Given the description of an element on the screen output the (x, y) to click on. 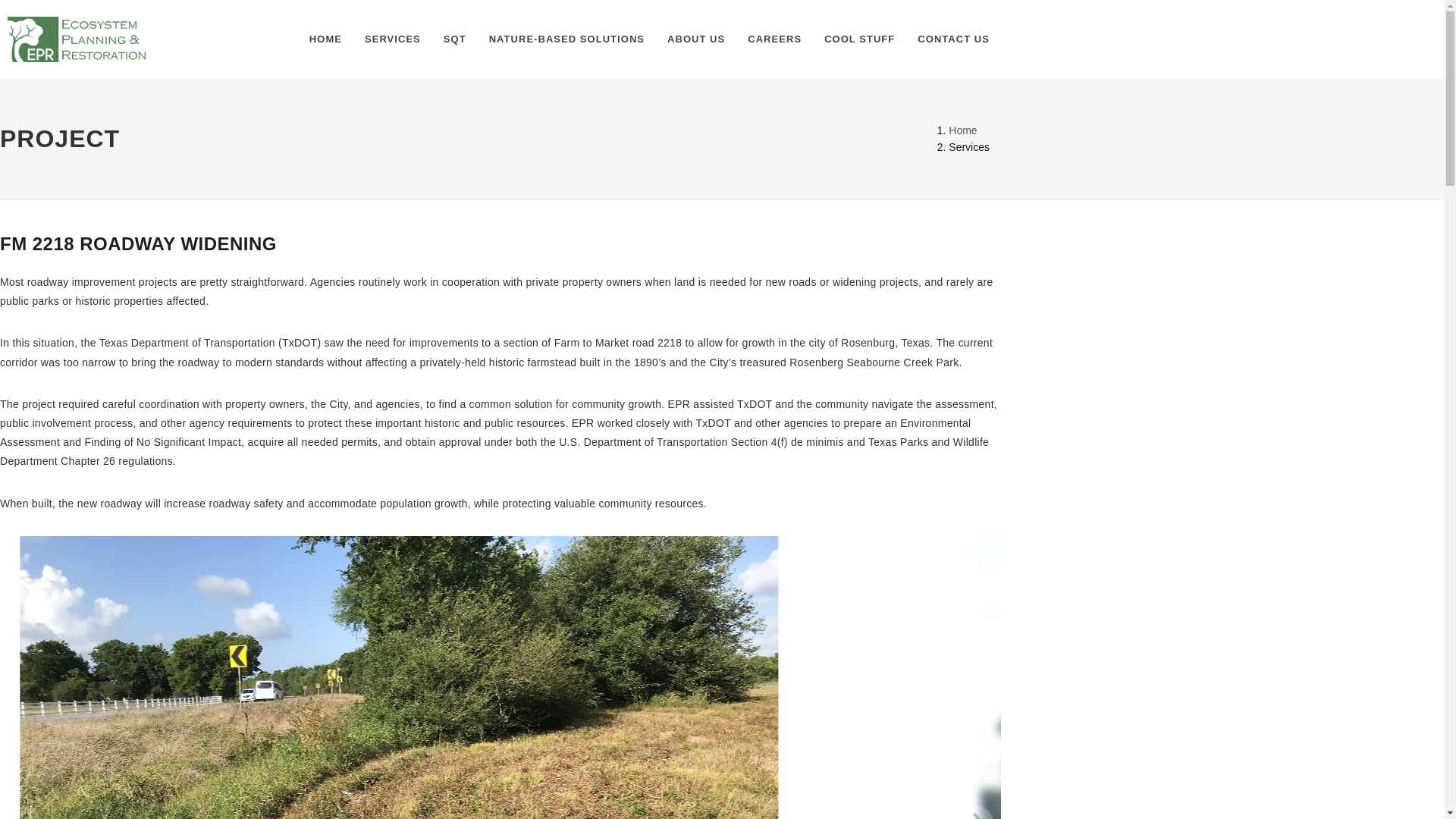
SERVICES (392, 39)
COOL STUFF (858, 39)
CAREERS (774, 39)
NATURE-BASED SOLUTIONS (566, 39)
Home (962, 130)
ABOUT US (696, 39)
CONTACT US (953, 39)
